Given the description of an element on the screen output the (x, y) to click on. 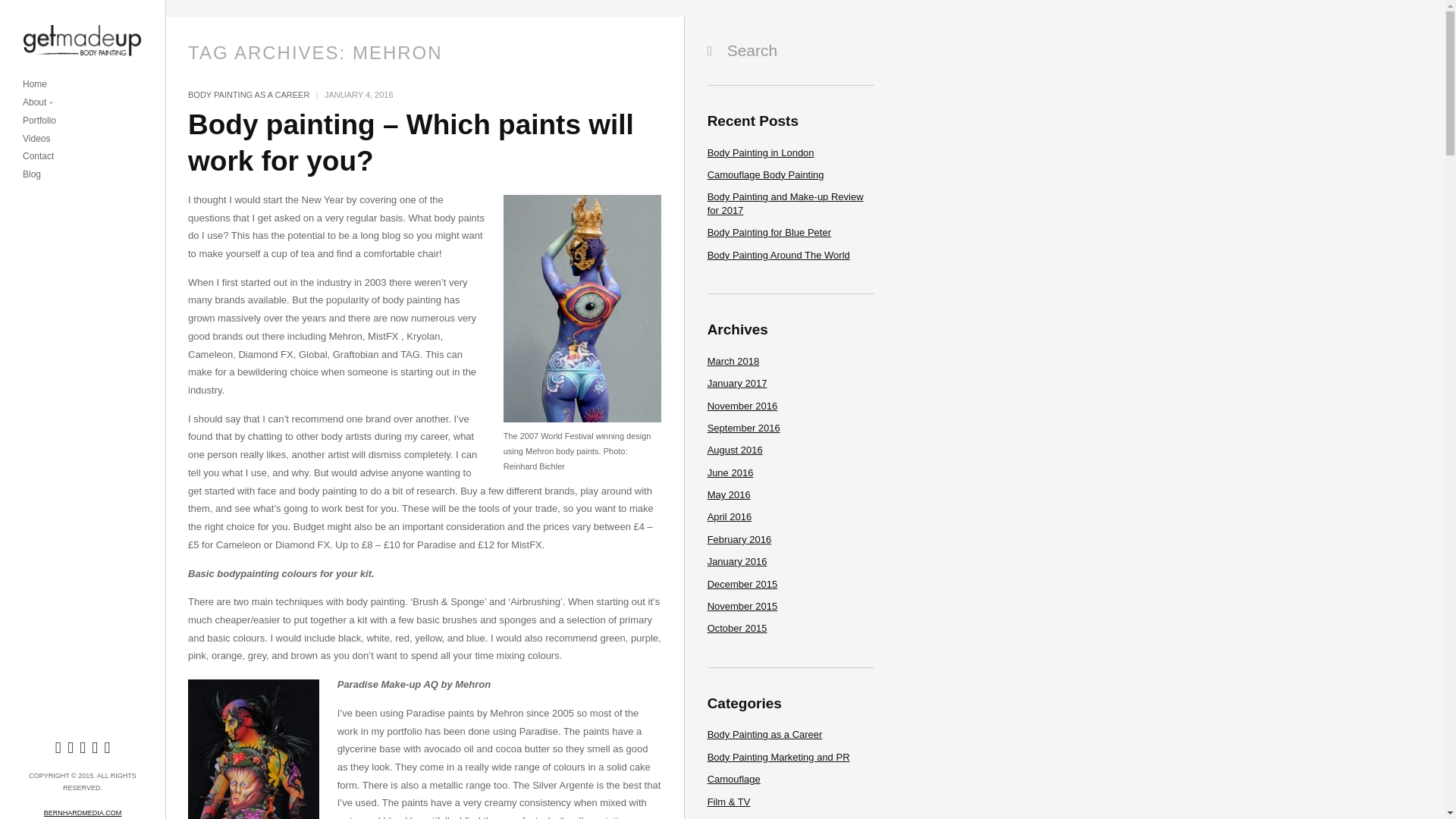
BODY PAINTING AS A CAREER (247, 94)
camouflage body paint  (733, 778)
Portfolio (39, 121)
BERNHARDMEDIA.COM (82, 812)
Search (786, 50)
Videos (36, 139)
Blog (31, 174)
About (37, 102)
Home (34, 84)
Body Painting as a Career (764, 734)
Contact (38, 156)
